Given the description of an element on the screen output the (x, y) to click on. 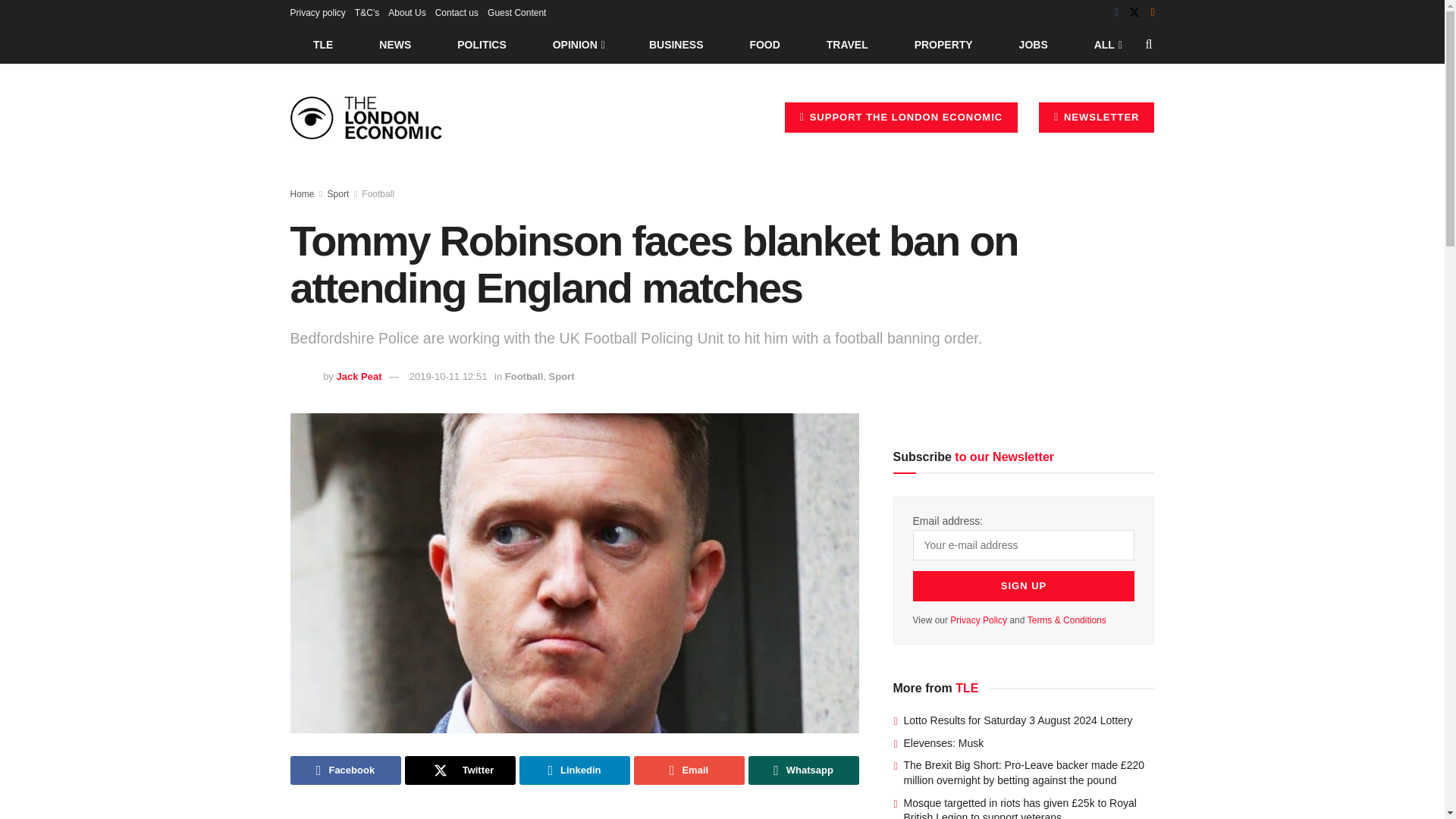
Privacy policy (317, 12)
About Us (406, 12)
Home (301, 194)
TLE (322, 44)
ALL (1106, 44)
Contact us (457, 12)
NEWS (394, 44)
Guest Content (516, 12)
POLITICS (481, 44)
JOBS (1032, 44)
